Given the description of an element on the screen output the (x, y) to click on. 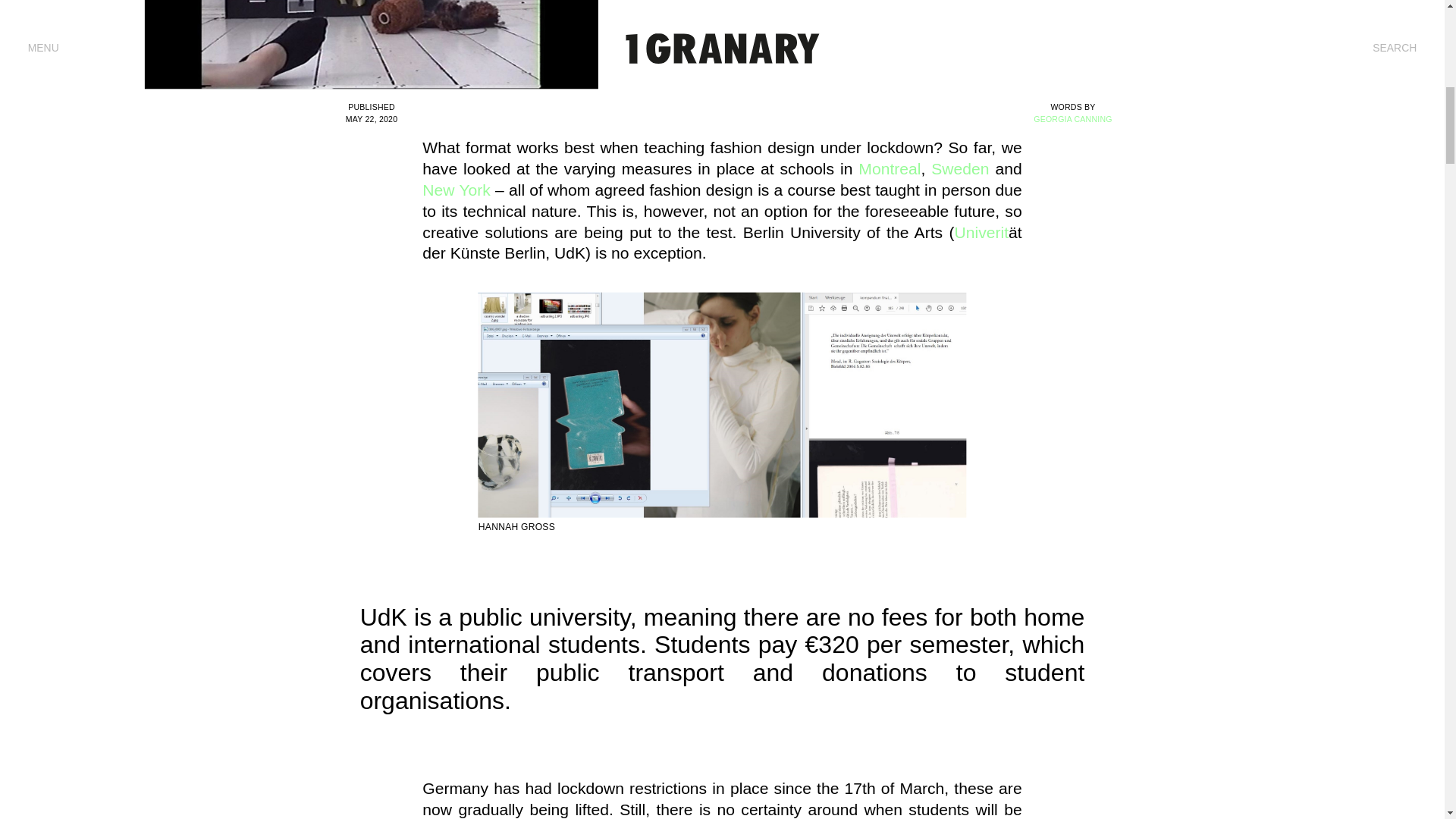
Sweden (959, 168)
New York (456, 189)
Montreal (889, 168)
Univerit (981, 231)
GEORGIA CANNING (1072, 118)
